Given the description of an element on the screen output the (x, y) to click on. 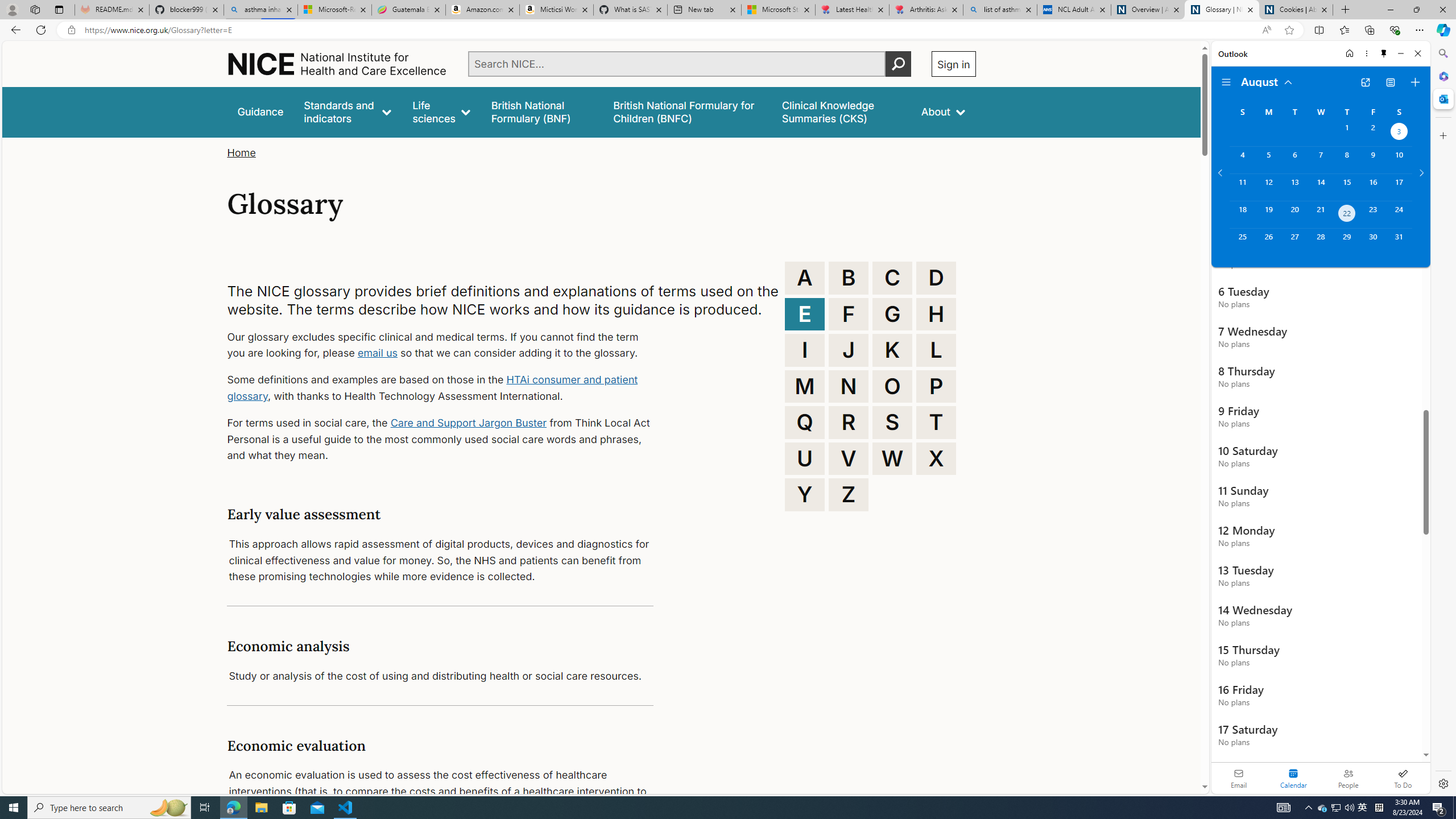
Favorites (1344, 29)
Tuesday, August 13, 2024.  (1294, 186)
Close tab (1324, 9)
Guidance (260, 111)
Close Outlook pane (1442, 98)
Wednesday, August 21, 2024.  (1320, 214)
To Do (1402, 777)
August (1267, 80)
Thursday, August 15, 2024.  (1346, 186)
Email (1238, 777)
New Tab (1346, 9)
R (848, 422)
More options (1366, 53)
Folder navigation (1225, 82)
New tab (703, 9)
